Given the description of an element on the screen output the (x, y) to click on. 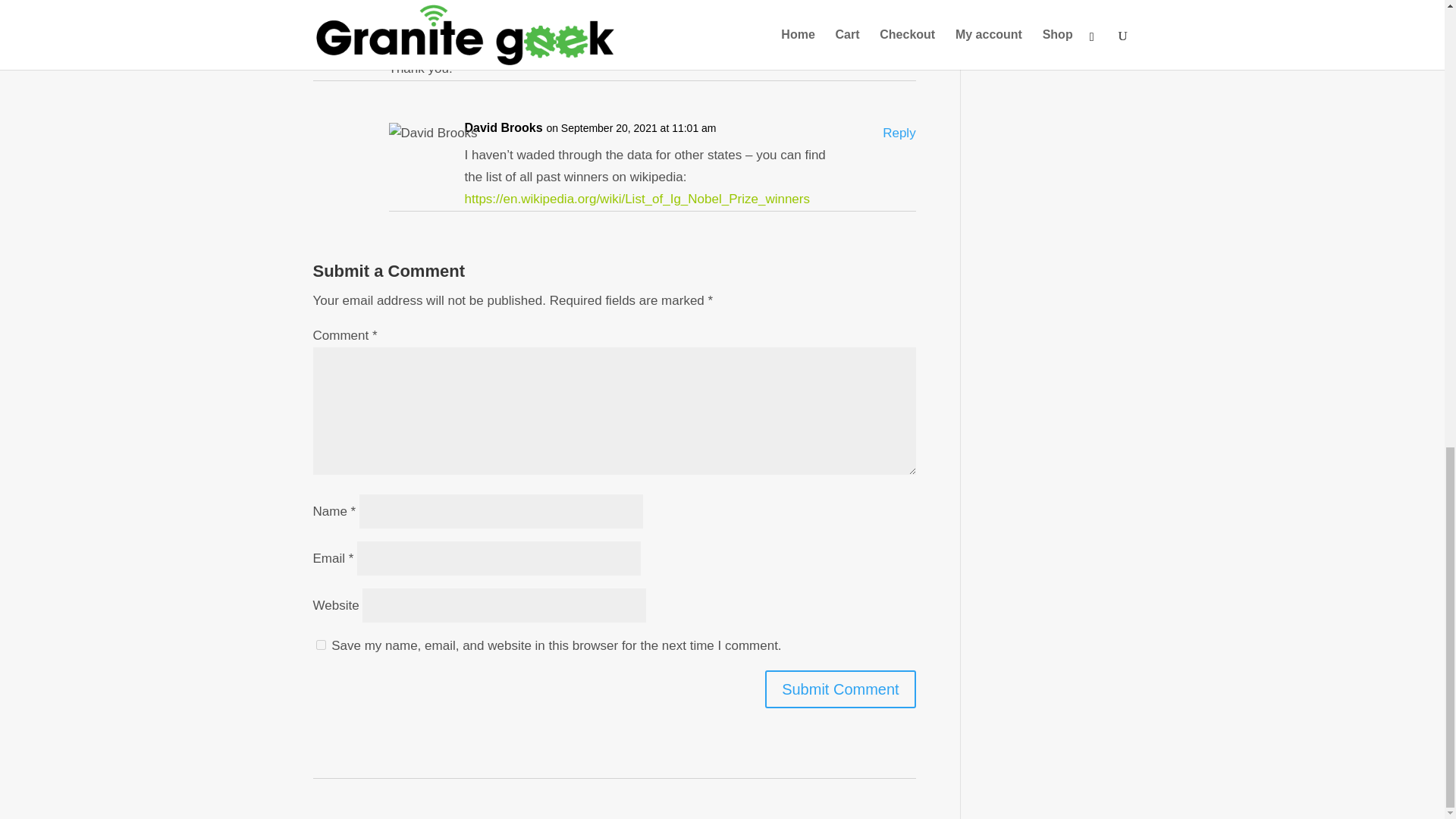
Submit Comment (840, 689)
Submit Comment (840, 689)
yes (319, 644)
David Brooks (502, 128)
Reply (898, 133)
